Given the description of an element on the screen output the (x, y) to click on. 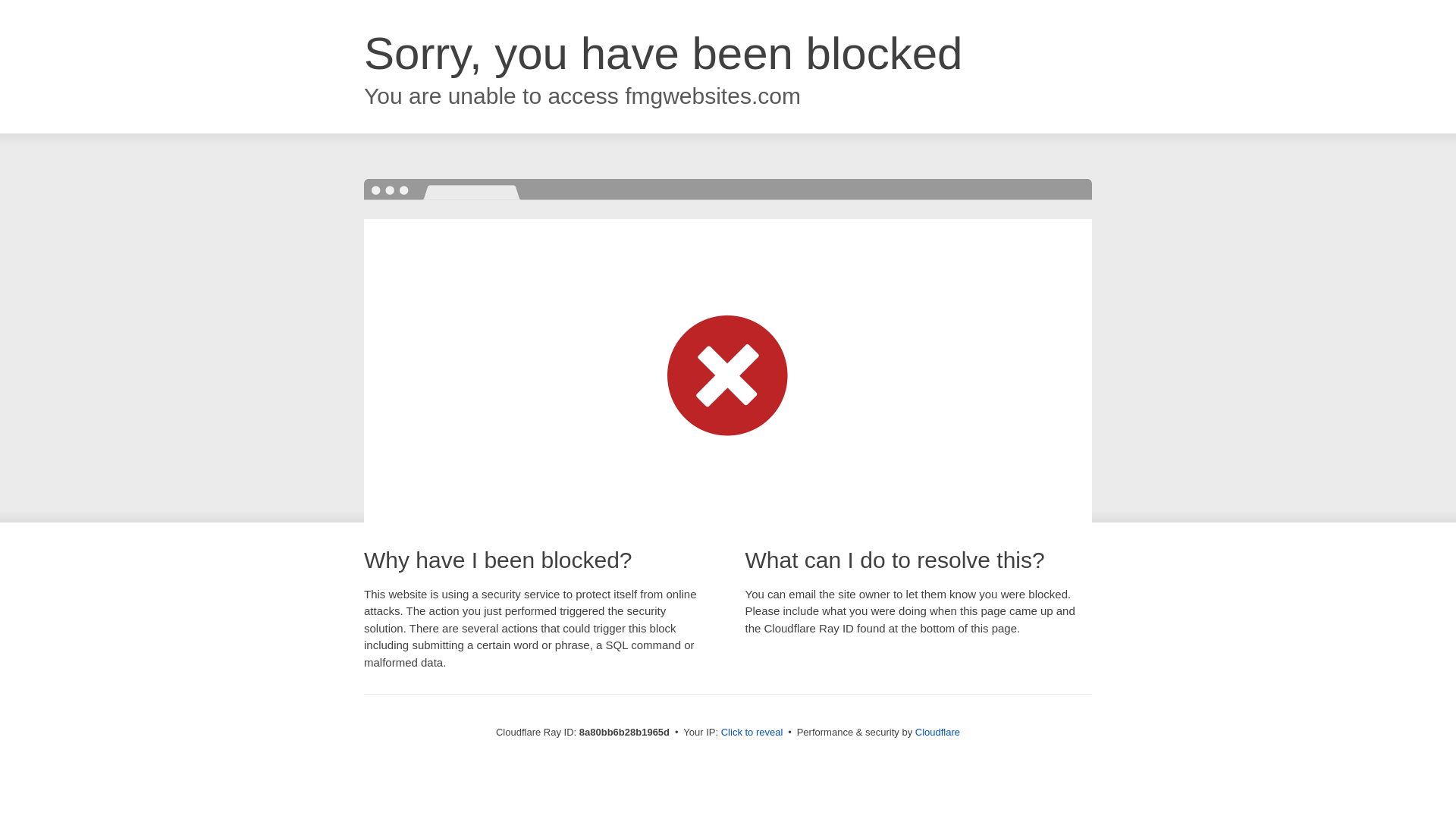
Click to reveal (751, 732)
Cloudflare (937, 731)
